Given the description of an element on the screen output the (x, y) to click on. 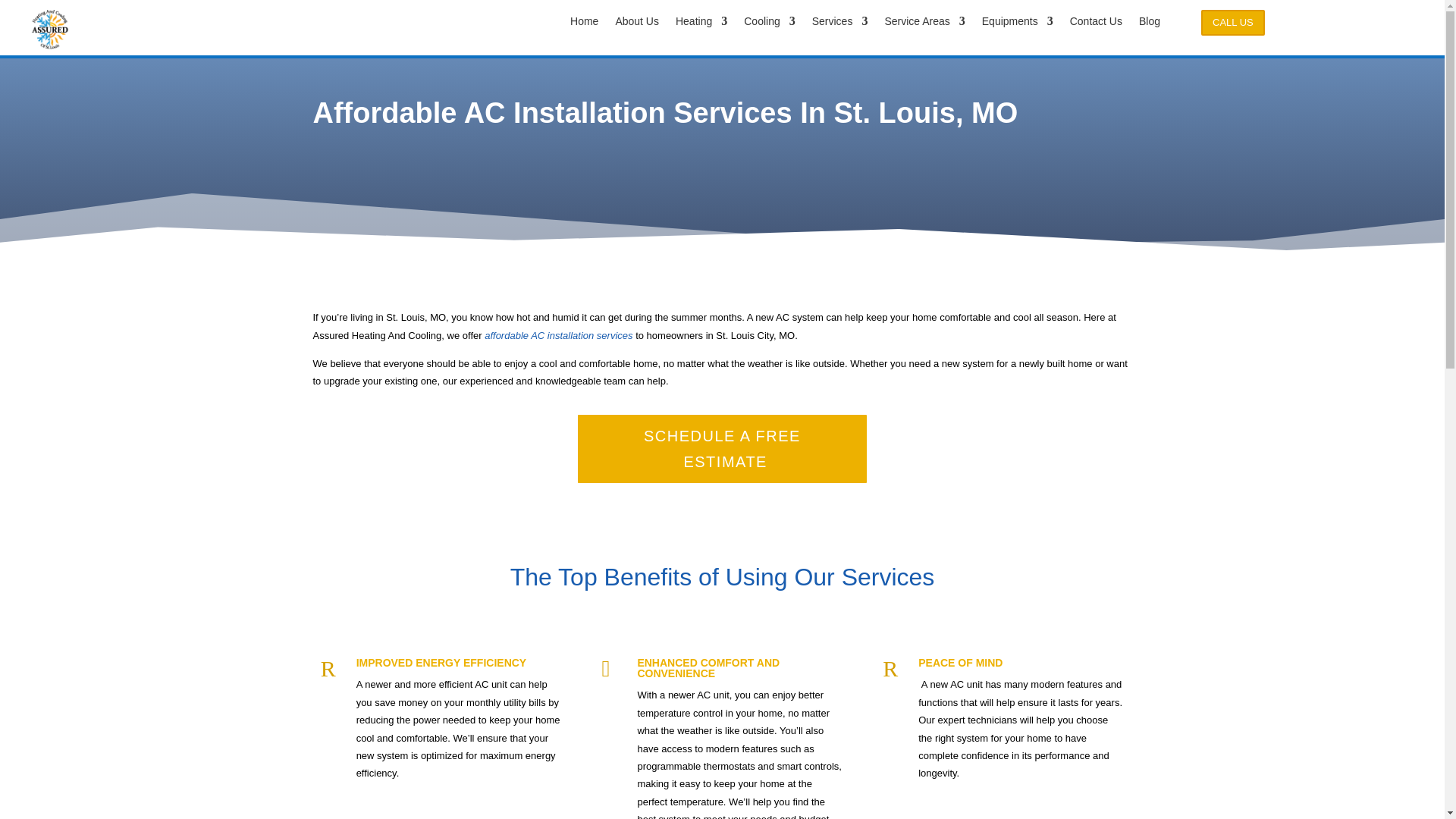
IMG-HOME-ROW-2 (49, 29)
Contact Us (1096, 23)
About Us (636, 23)
Service Areas (923, 23)
Equipments (1016, 23)
CALL US (1233, 22)
SCHEDULE A FREE ESTIMATE (721, 448)
Home (584, 23)
affordable AC installation services (557, 335)
Services (839, 23)
